Given the description of an element on the screen output the (x, y) to click on. 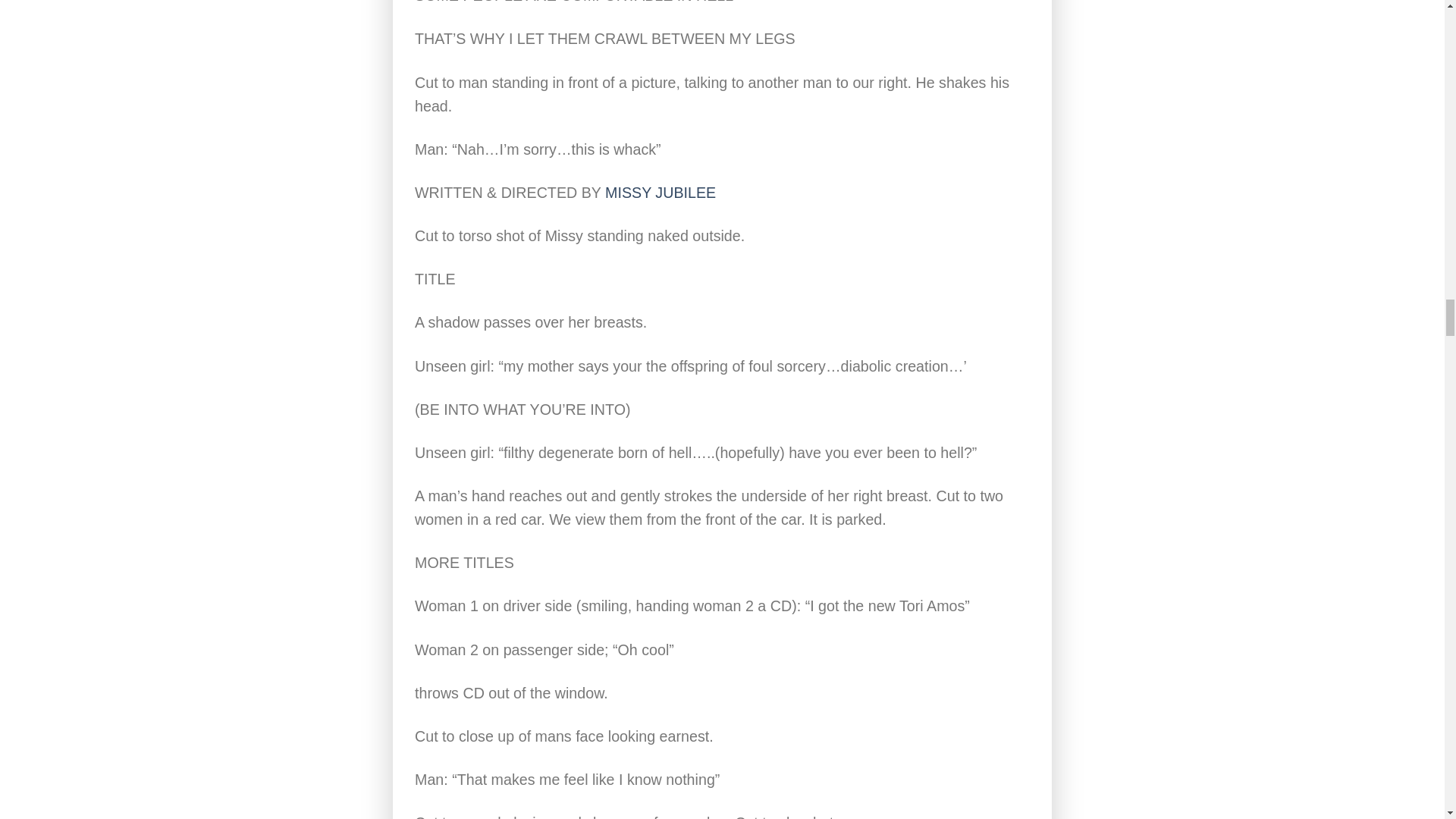
MISSY JUBILEE (660, 192)
